Given the description of an element on the screen output the (x, y) to click on. 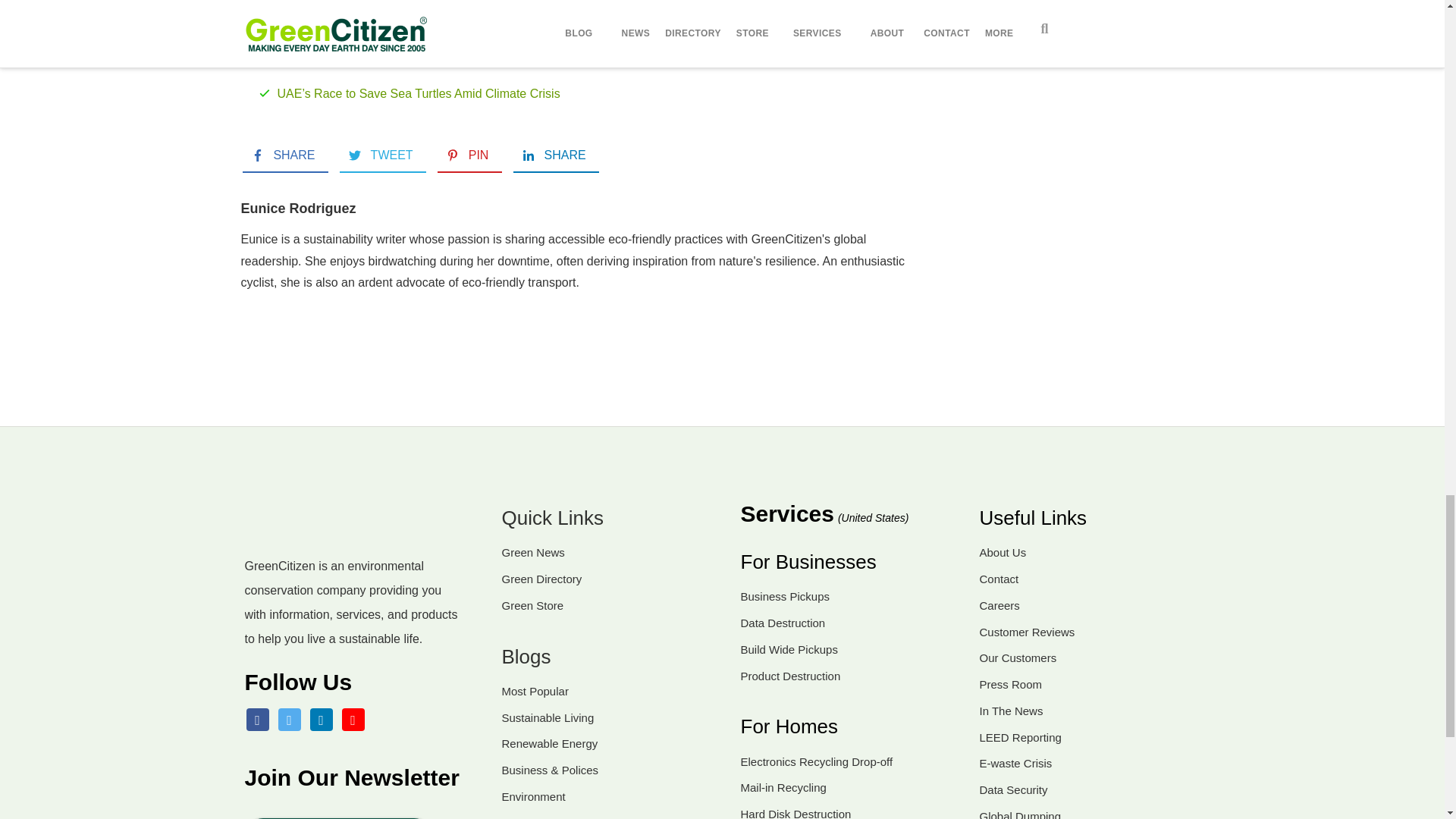
All posts by Eunice Rodriguez (298, 208)
